Given the description of an element on the screen output the (x, y) to click on. 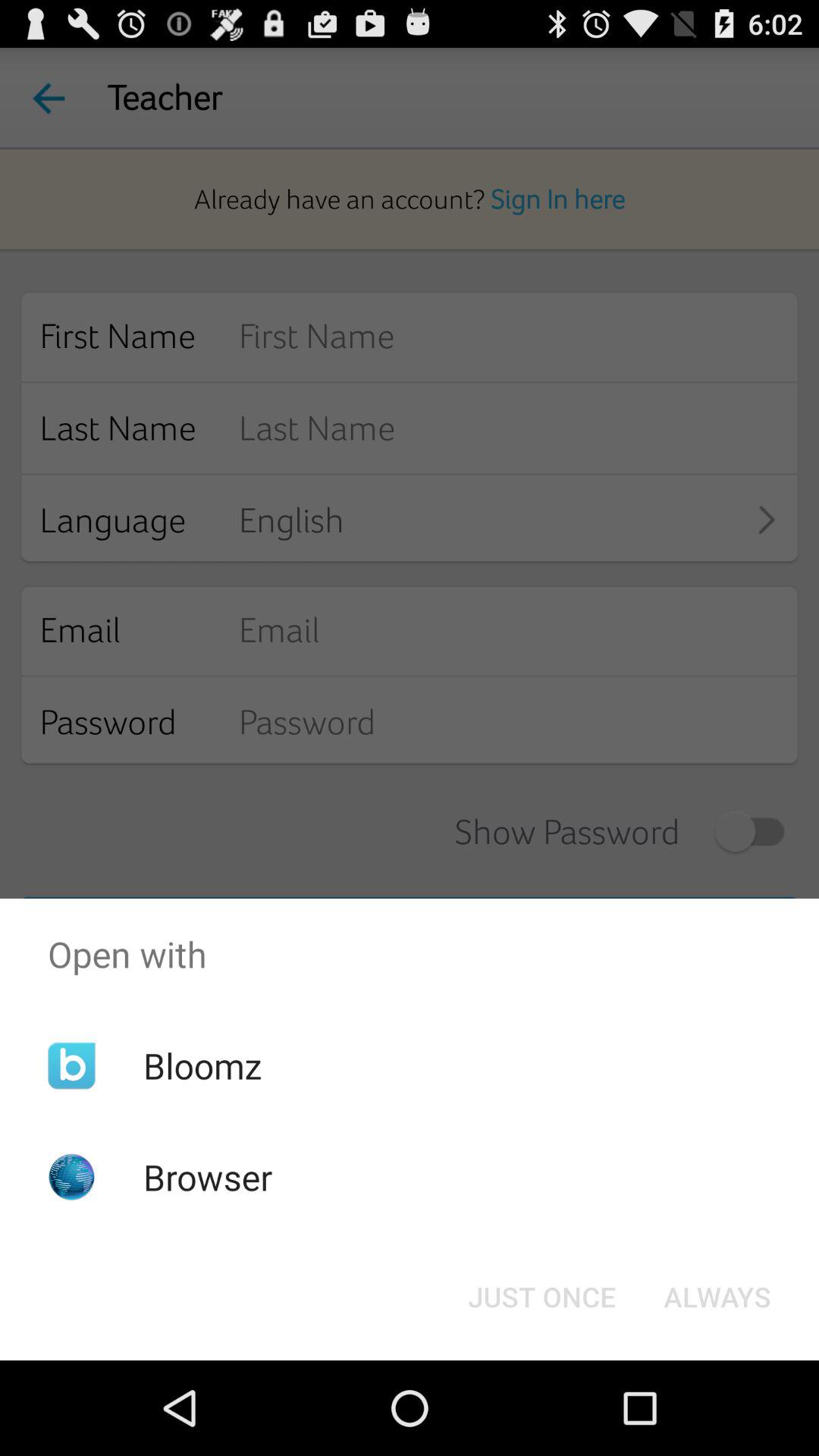
open icon above browser app (202, 1065)
